Given the description of an element on the screen output the (x, y) to click on. 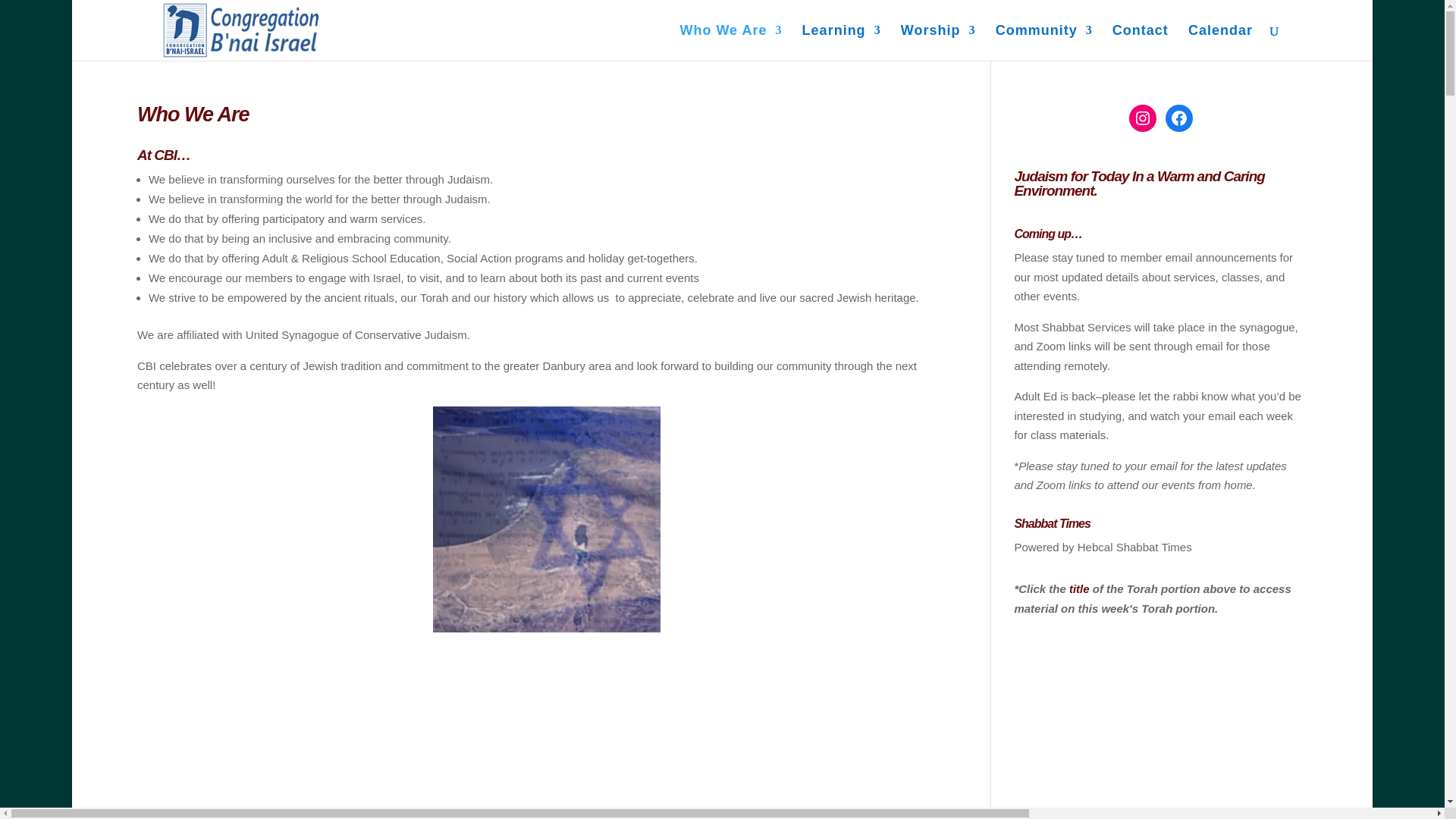
Community (1044, 42)
Calendar (1220, 42)
Facebook (1179, 117)
Who We Are (730, 42)
Hebcal Shabbat Times (1134, 545)
Instagram (1142, 117)
Worship (938, 42)
Contact (1140, 42)
Learning (841, 42)
